Given the description of an element on the screen output the (x, y) to click on. 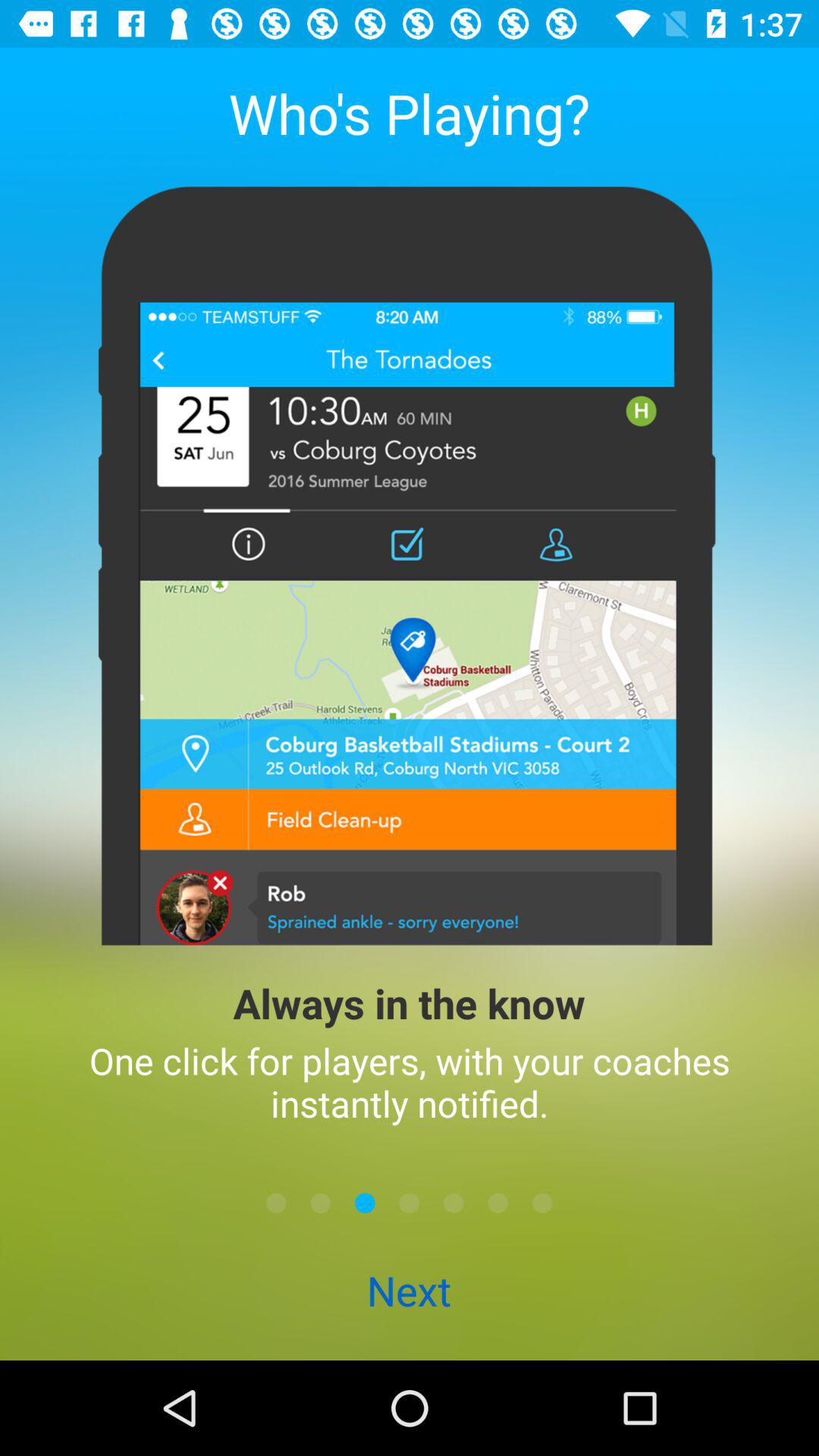
press the next (409, 1292)
